Given the description of an element on the screen output the (x, y) to click on. 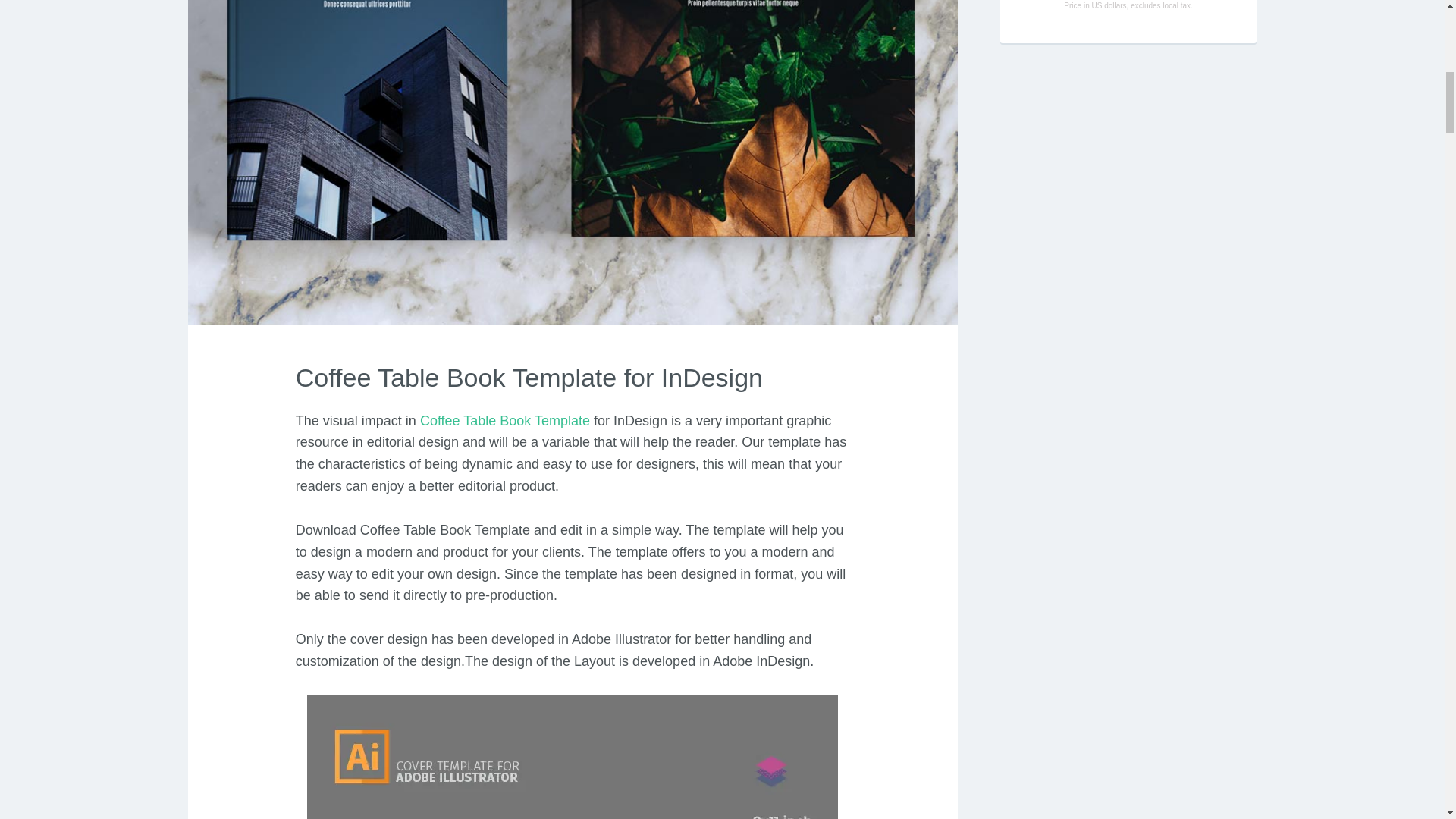
Coffee Table Book Template (504, 420)
